Given the description of an element on the screen output the (x, y) to click on. 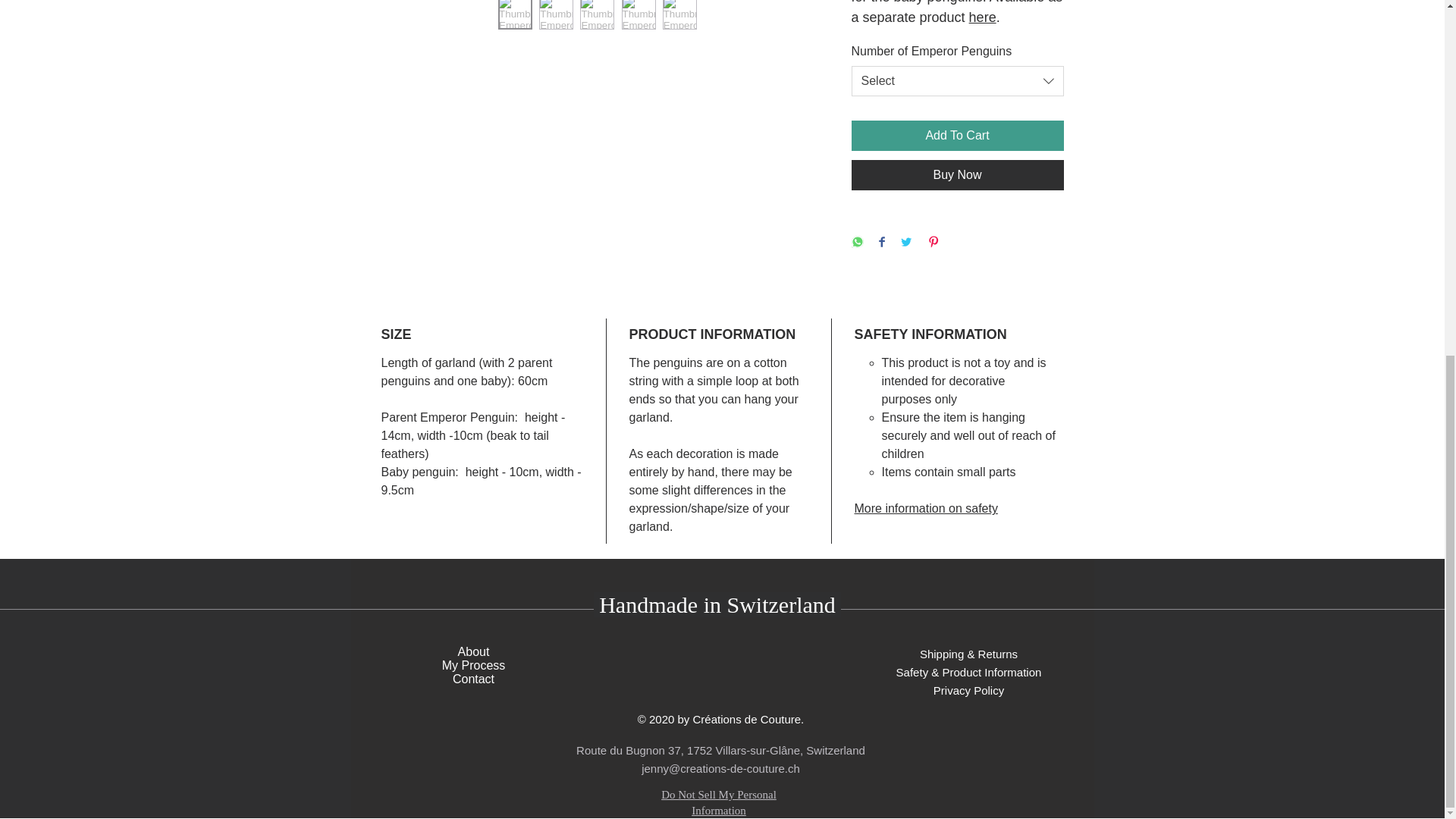
here (982, 17)
Contact (473, 678)
Buy Now (956, 174)
My Process (473, 665)
Add To Cart (956, 135)
Privacy Policy (968, 689)
More information on safety (925, 508)
About (473, 651)
Select (956, 81)
